Given the description of an element on the screen output the (x, y) to click on. 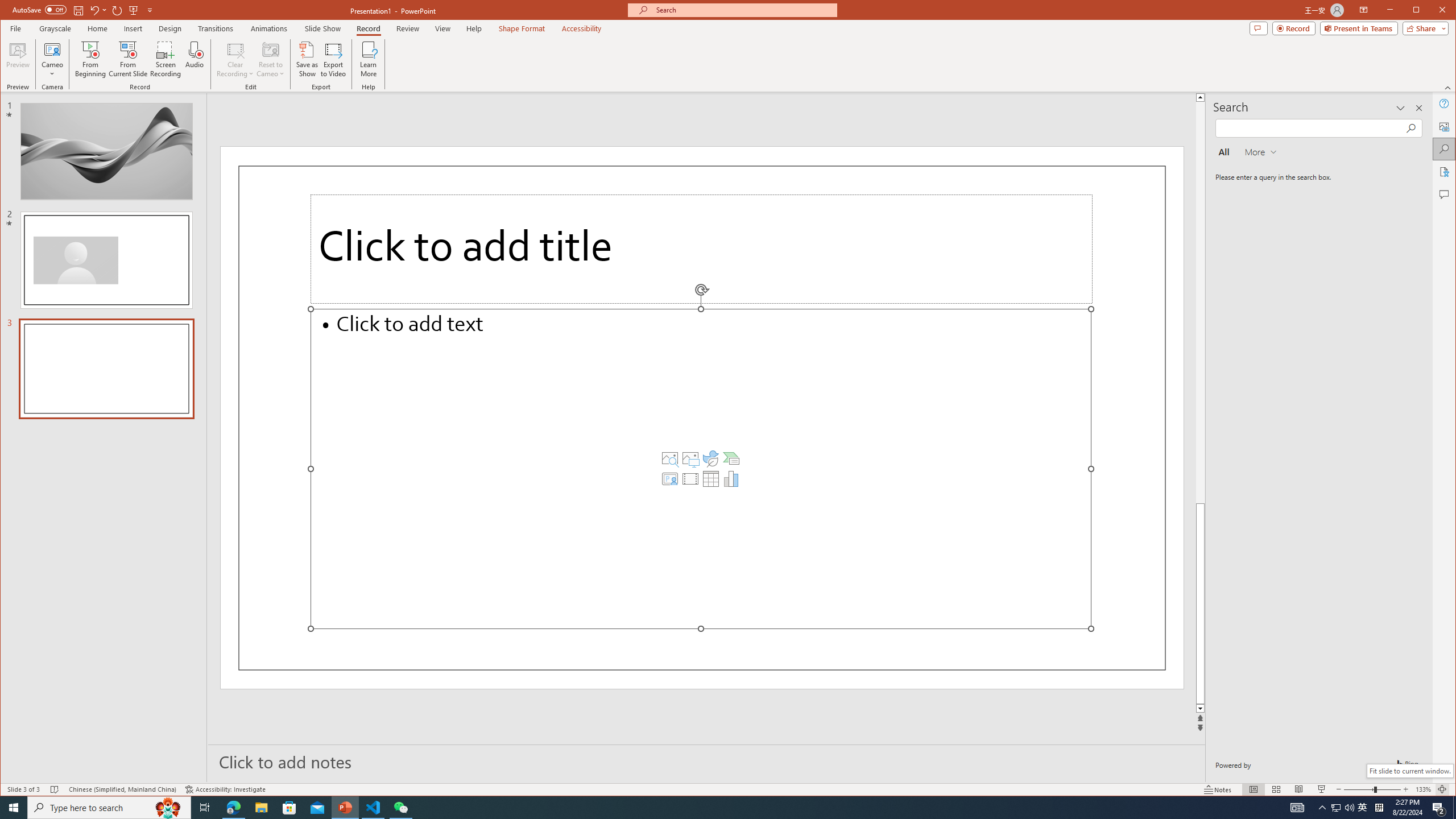
Insert Cameo (669, 479)
Insert an Icon (710, 458)
